Given the description of an element on the screen output the (x, y) to click on. 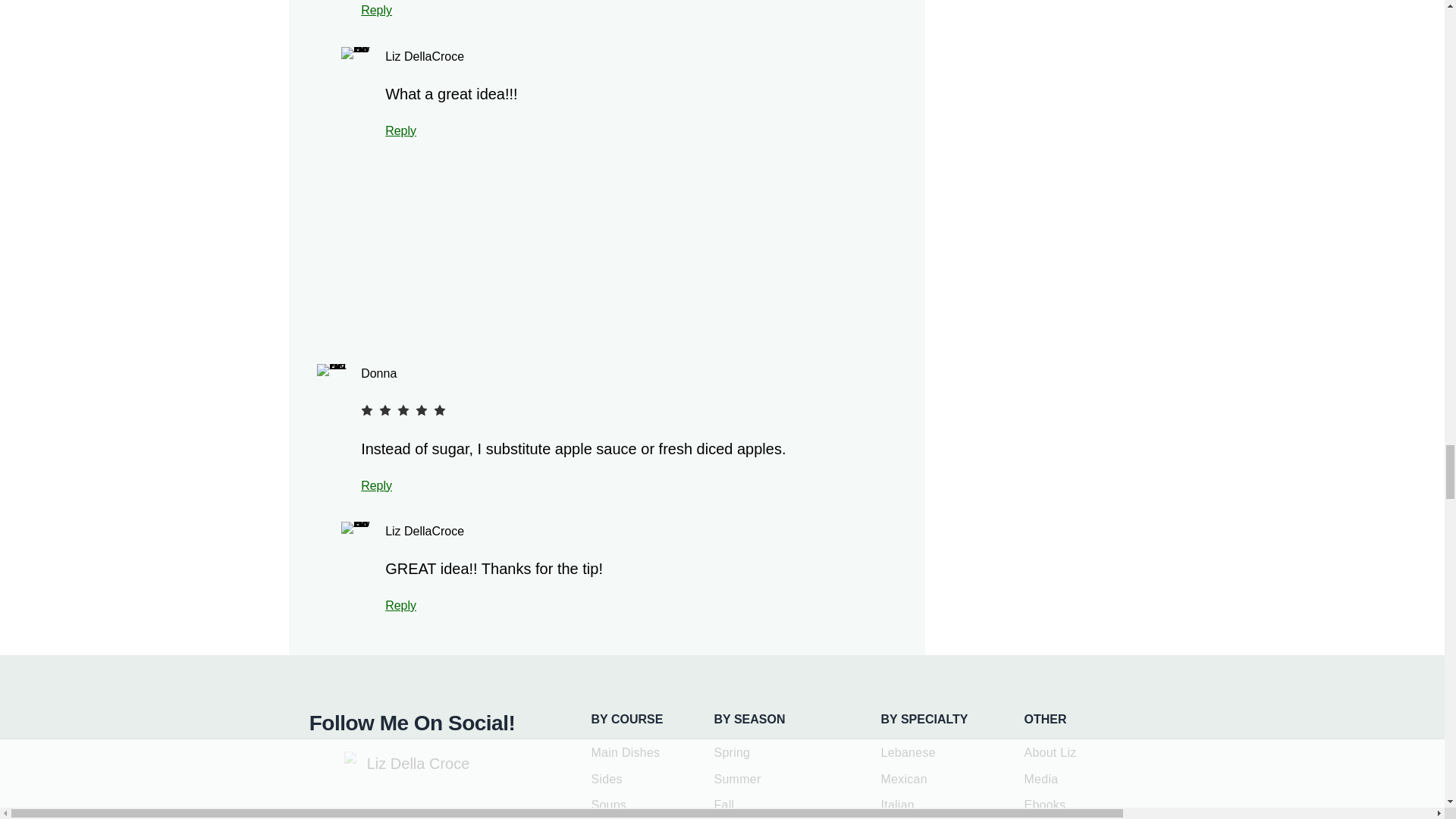
Recipes for Summer (737, 779)
Side Dish Recipes (607, 779)
Main Dish Recipes (626, 752)
Reply (400, 130)
Recipes for Fall (724, 804)
Reply (376, 10)
Reply (400, 604)
Soup Recipes (609, 804)
Reply (376, 485)
Recipes for Spring (732, 752)
